Given the description of an element on the screen output the (x, y) to click on. 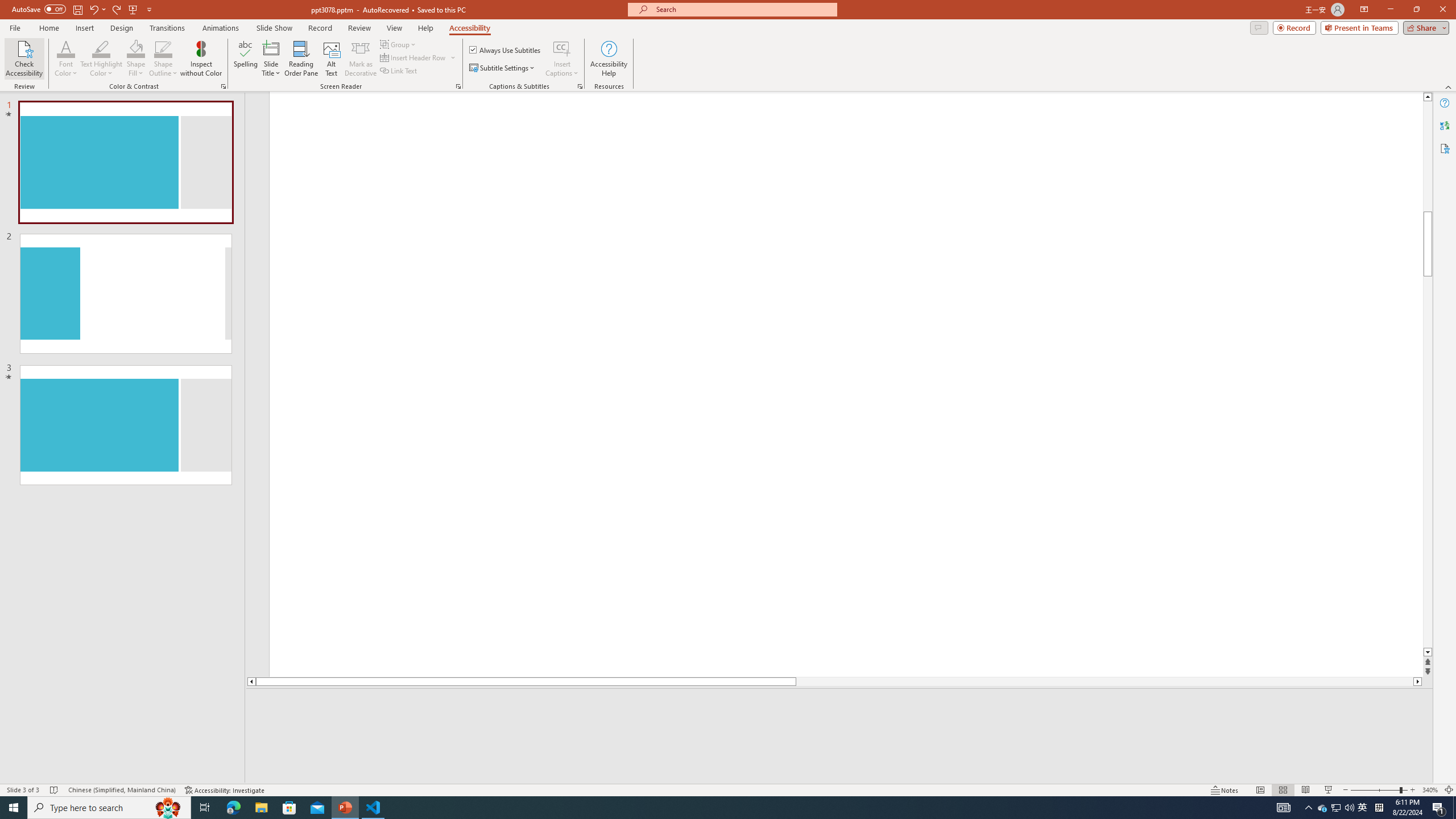
Always Use Subtitles (505, 49)
Subtitle Settings (502, 67)
An abstract genetic concept (845, 395)
Link Text (399, 69)
